Given the description of an element on the screen output the (x, y) to click on. 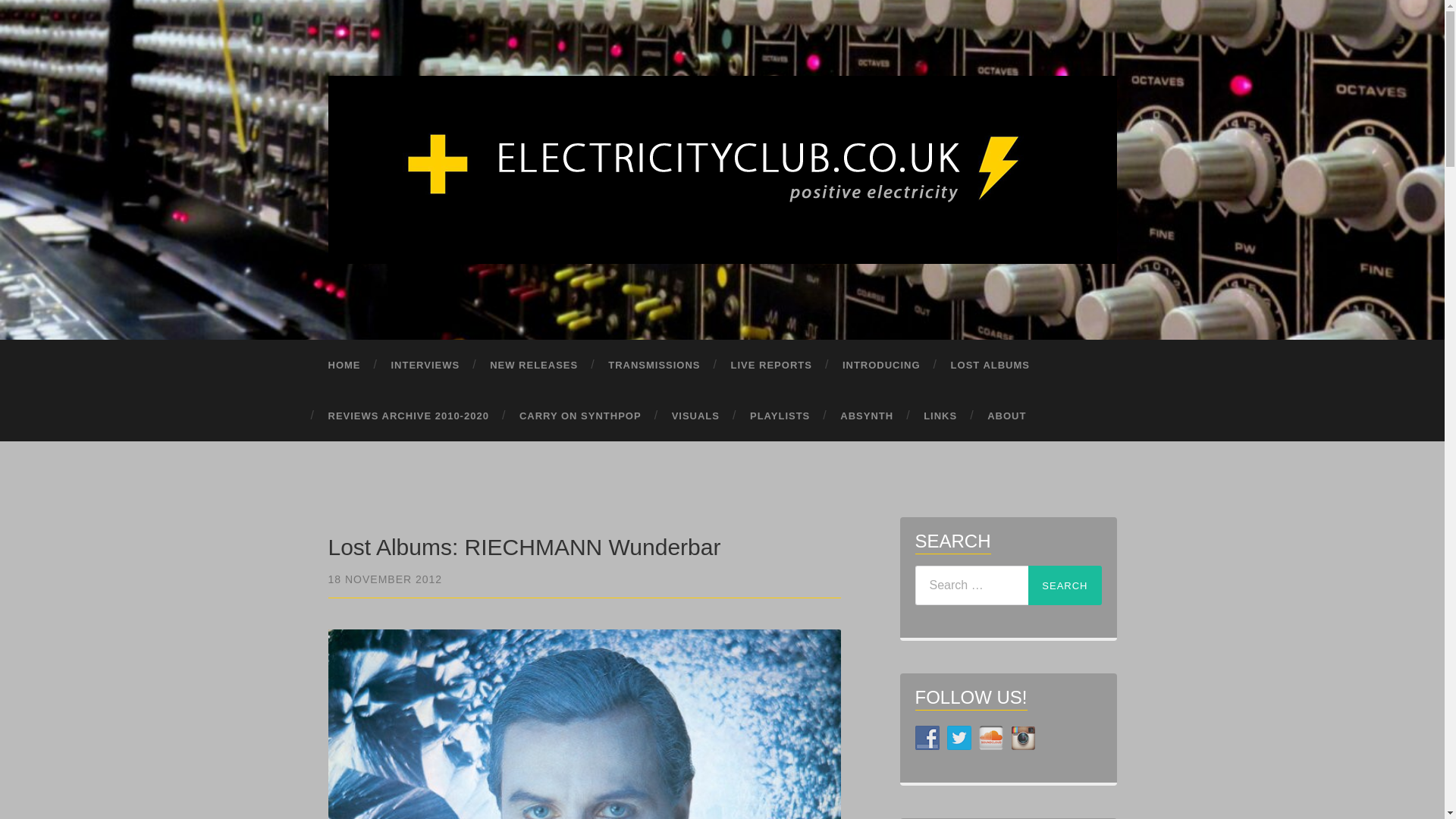
NEW RELEASES (533, 364)
Lost Albums: RIECHMANN Wunderbar (384, 579)
Follow Us on Instagram (1021, 737)
INTERVIEWS (425, 364)
18 NOVEMBER 2012 (384, 579)
LOST ALBUMS (990, 364)
Lost Albums: RIECHMANN Wunderbar (523, 546)
ABSYNTH (866, 415)
TRANSMISSIONS (653, 364)
Lost Albums: RIECHMANN Wunderbar (523, 546)
